Given the description of an element on the screen output the (x, y) to click on. 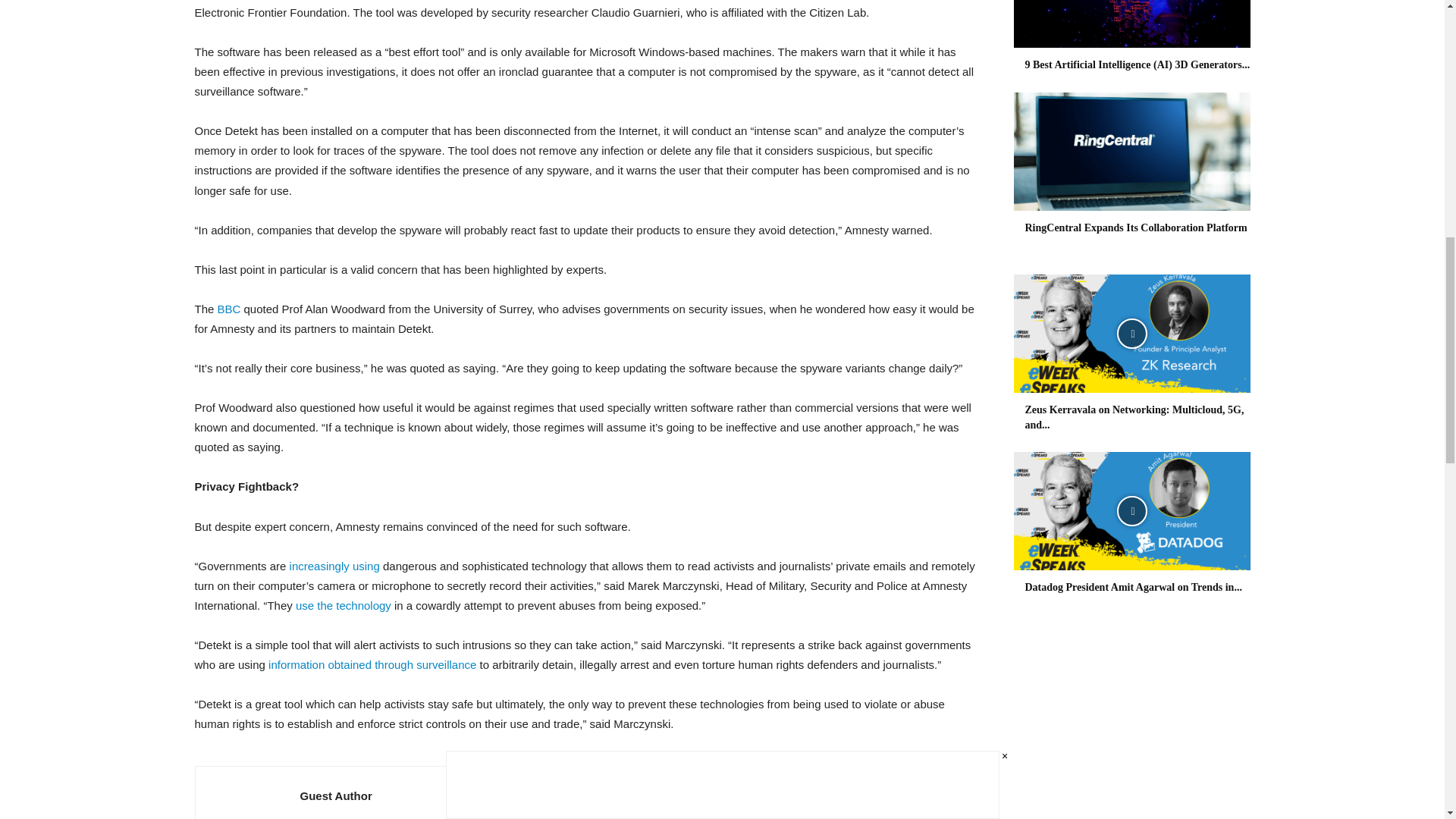
germany-drops-verizon (343, 604)
nsa-internet-communications-snooping (334, 565)
